Given the description of an element on the screen output the (x, y) to click on. 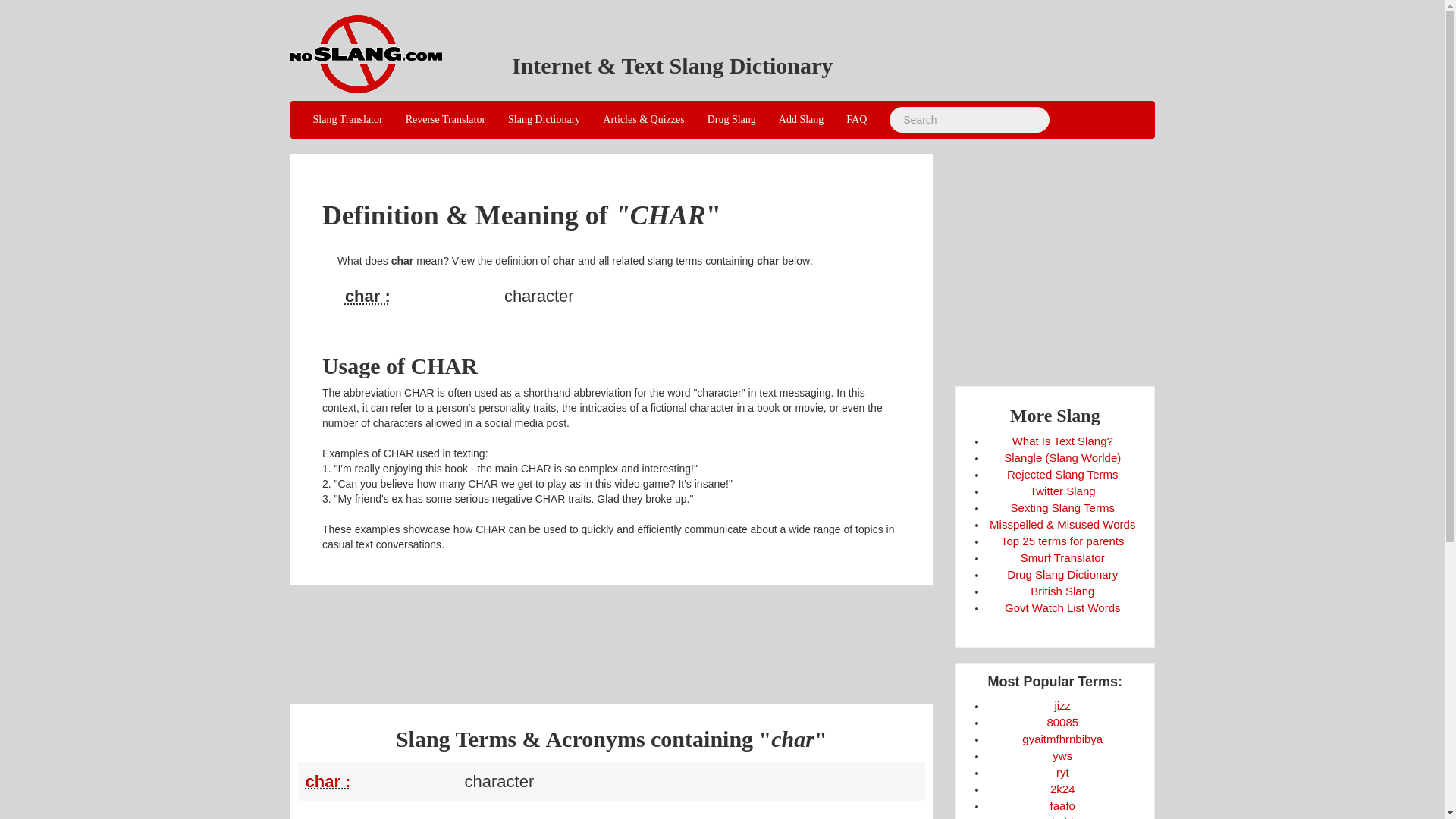
Drug Slang (731, 119)
faafo (1062, 805)
character (420, 295)
character (380, 781)
char : (327, 781)
Add Slang (801, 119)
Drug Slang Dictionary (1062, 574)
fuck around and find out (1062, 805)
semen (1062, 705)
right (1062, 771)
